Given the description of an element on the screen output the (x, y) to click on. 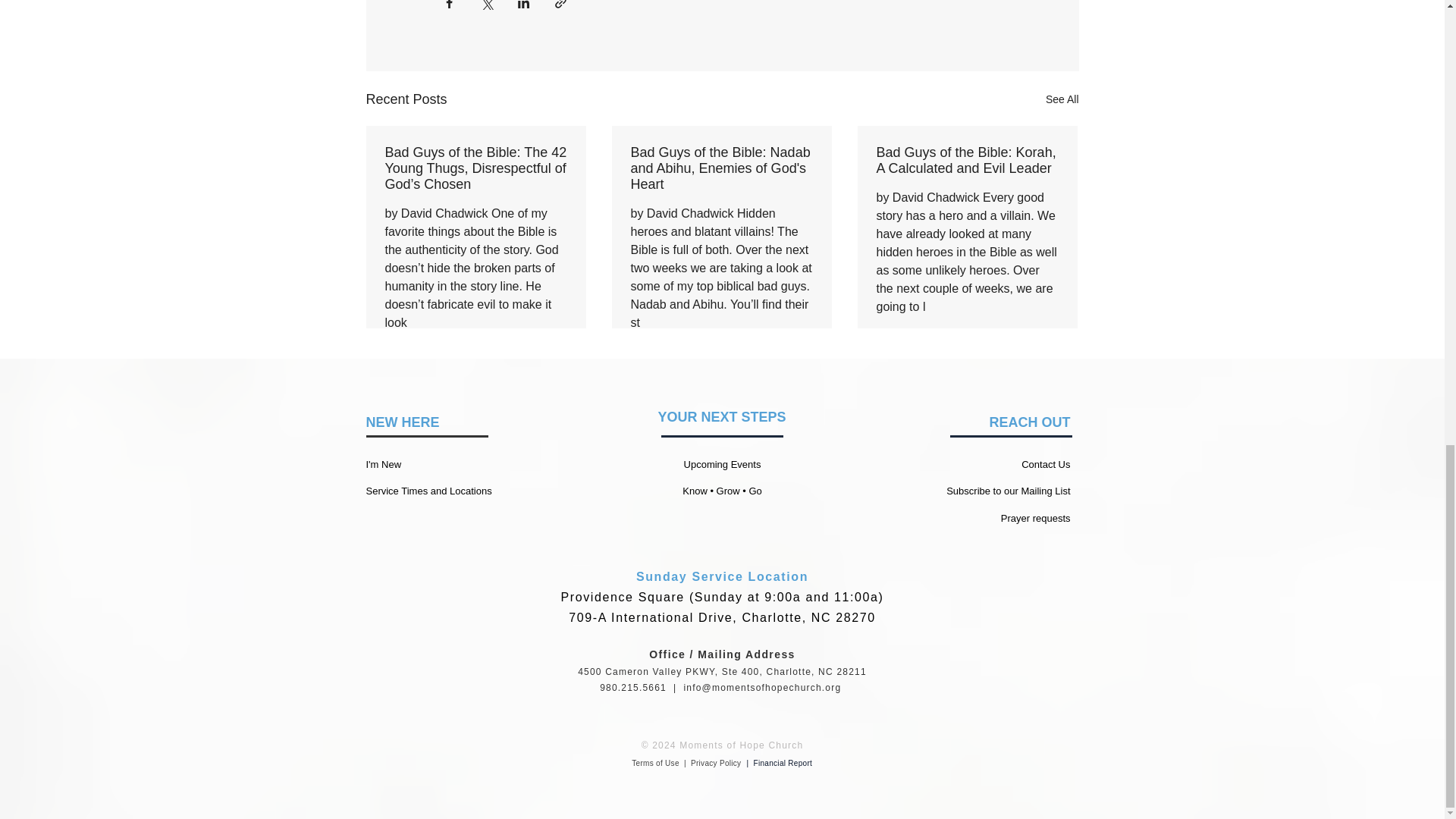
Service Times and Locations (428, 490)
Bad Guys of the Bible: Korah, A Calculated and Evil Leader (967, 160)
I'm New (383, 464)
Upcoming Events (722, 464)
See All (1061, 99)
